Given the description of an element on the screen output the (x, y) to click on. 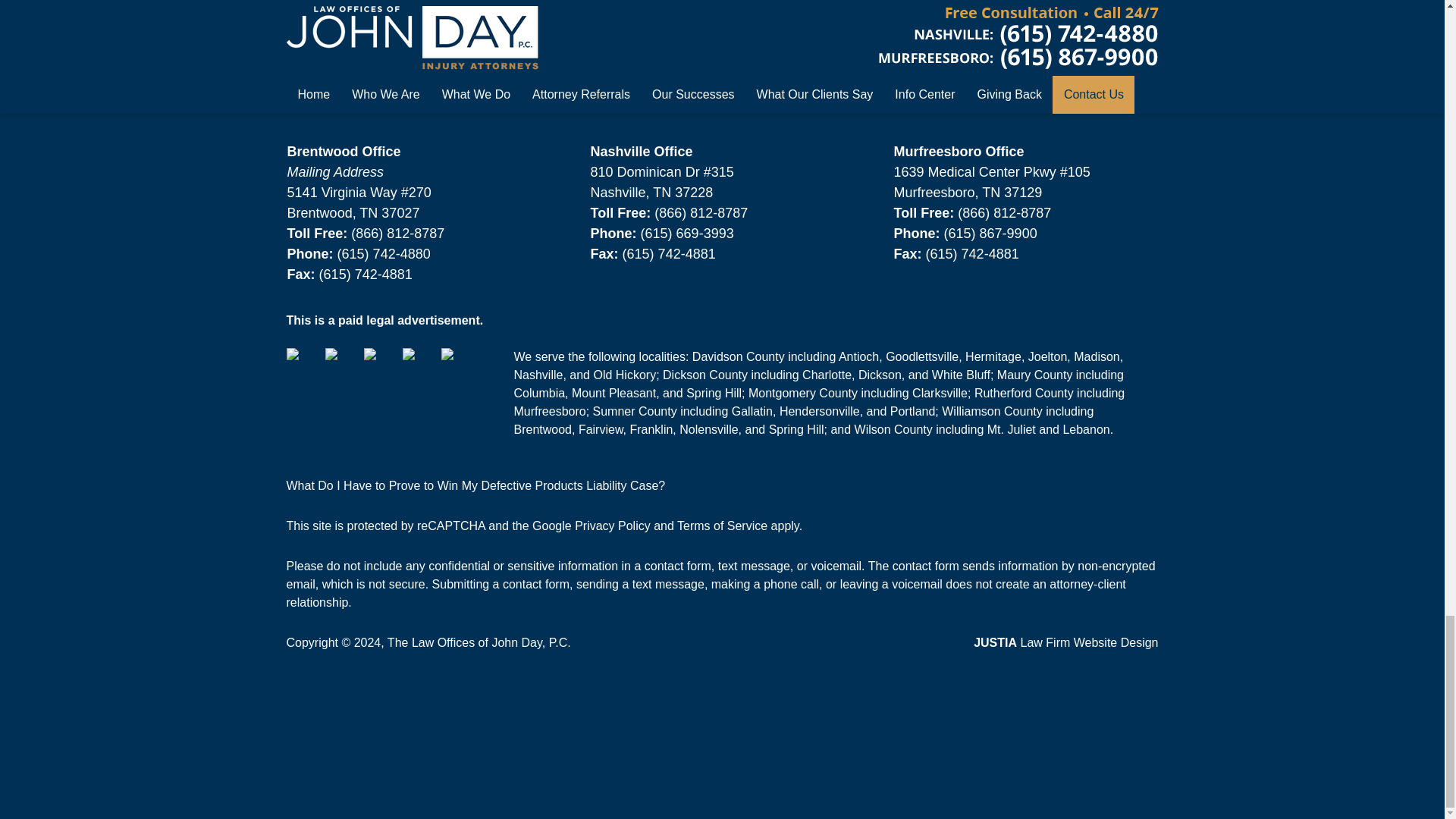
Twitter (341, 365)
Instagram (458, 365)
Facebook (303, 365)
LinkedIn (381, 365)
Justia (418, 365)
